Given the description of an element on the screen output the (x, y) to click on. 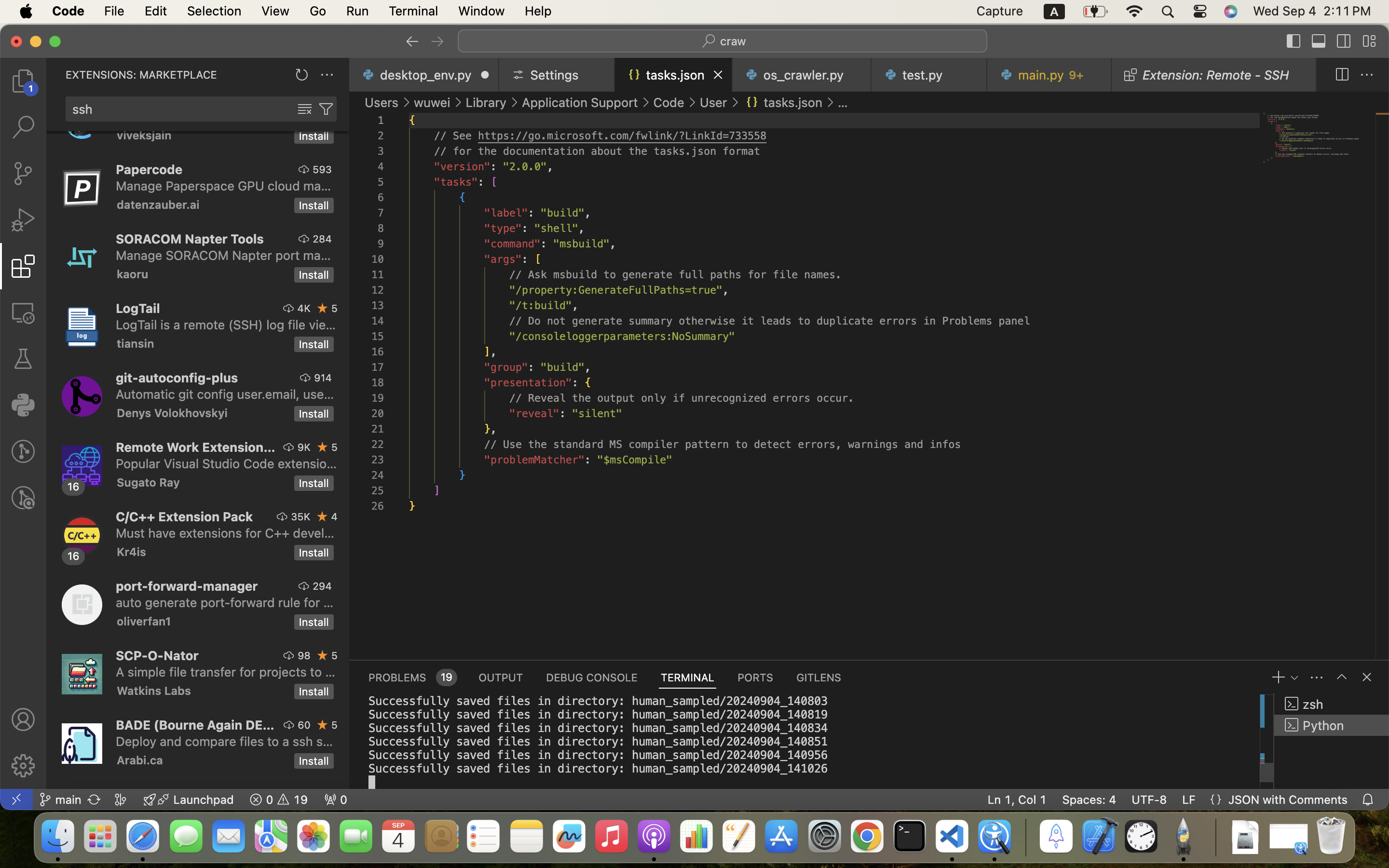
SORACOM Napter Tools Element type: AXStaticText (189, 238)
0 os_crawler.py   Element type: AXRadioButton (801, 74)
Remote Work Extension Pack Element type: AXStaticText (195, 446)
LogTail Element type: AXStaticText (137, 307)
craw Element type: AXStaticText (733, 41)
